Given the description of an element on the screen output the (x, y) to click on. 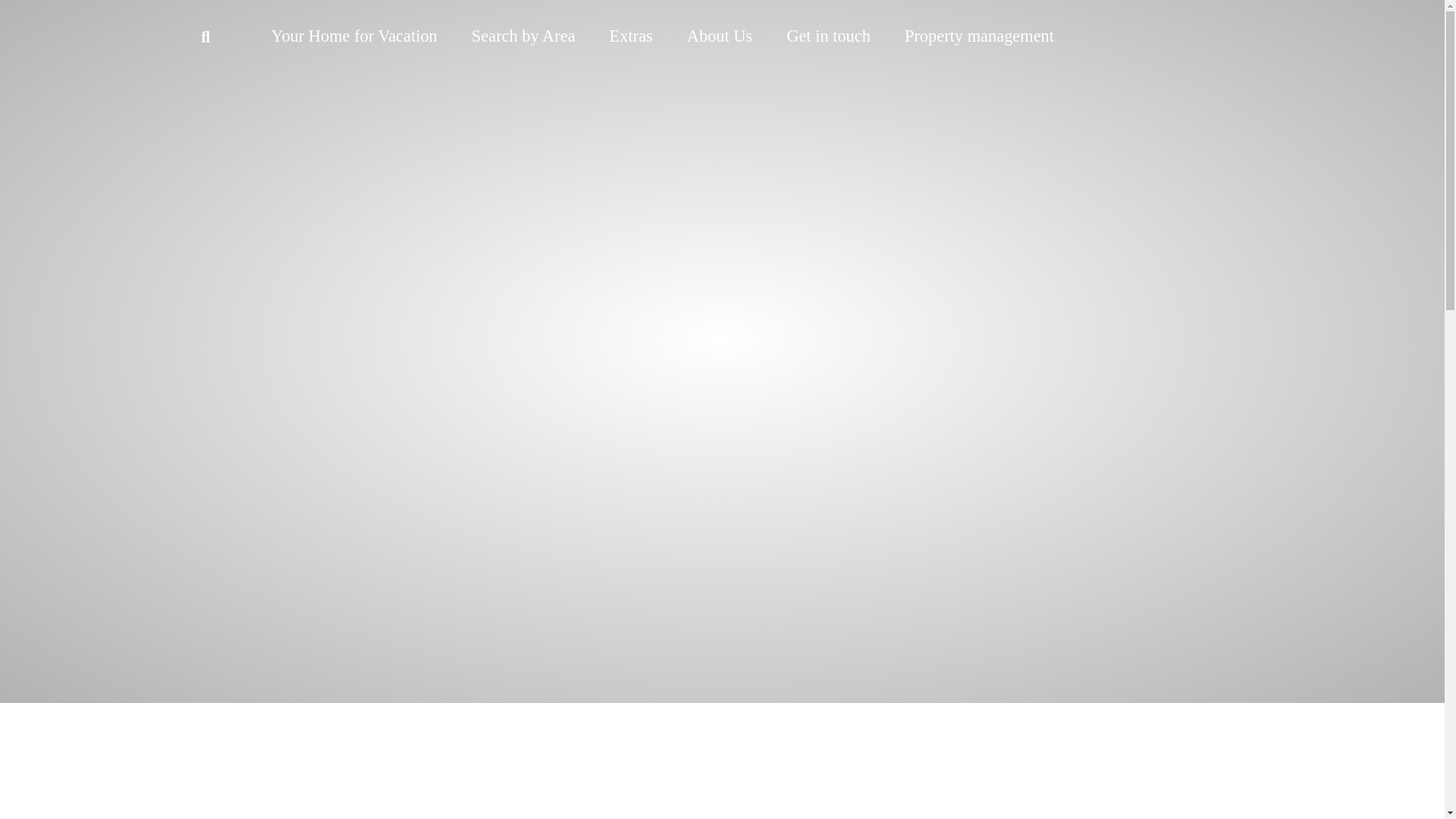
Get in touch (828, 36)
Search by Area (524, 36)
Property management (978, 36)
Extras (631, 36)
About Us (719, 36)
Your Home for Vacation (353, 36)
